Given the description of an element on the screen output the (x, y) to click on. 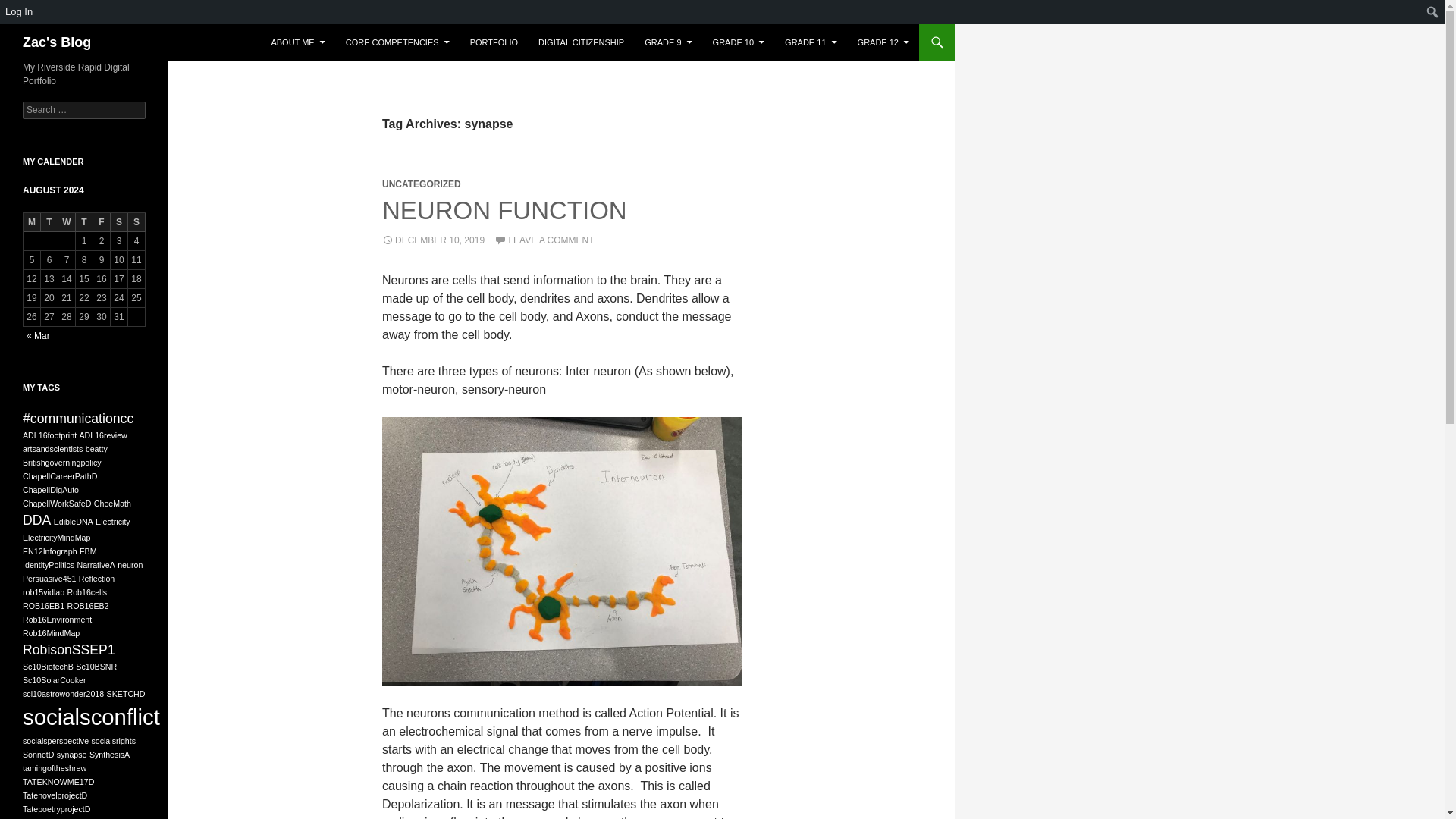
Wednesday (66, 221)
NEURON FUNCTION (504, 210)
Zac's Blog (56, 42)
ABOUT ME (297, 42)
Monday (31, 221)
CORE COMPETENCIES (397, 42)
Search (11, 12)
GRADE 10 (738, 42)
Tuesday (49, 221)
